Given the description of an element on the screen output the (x, y) to click on. 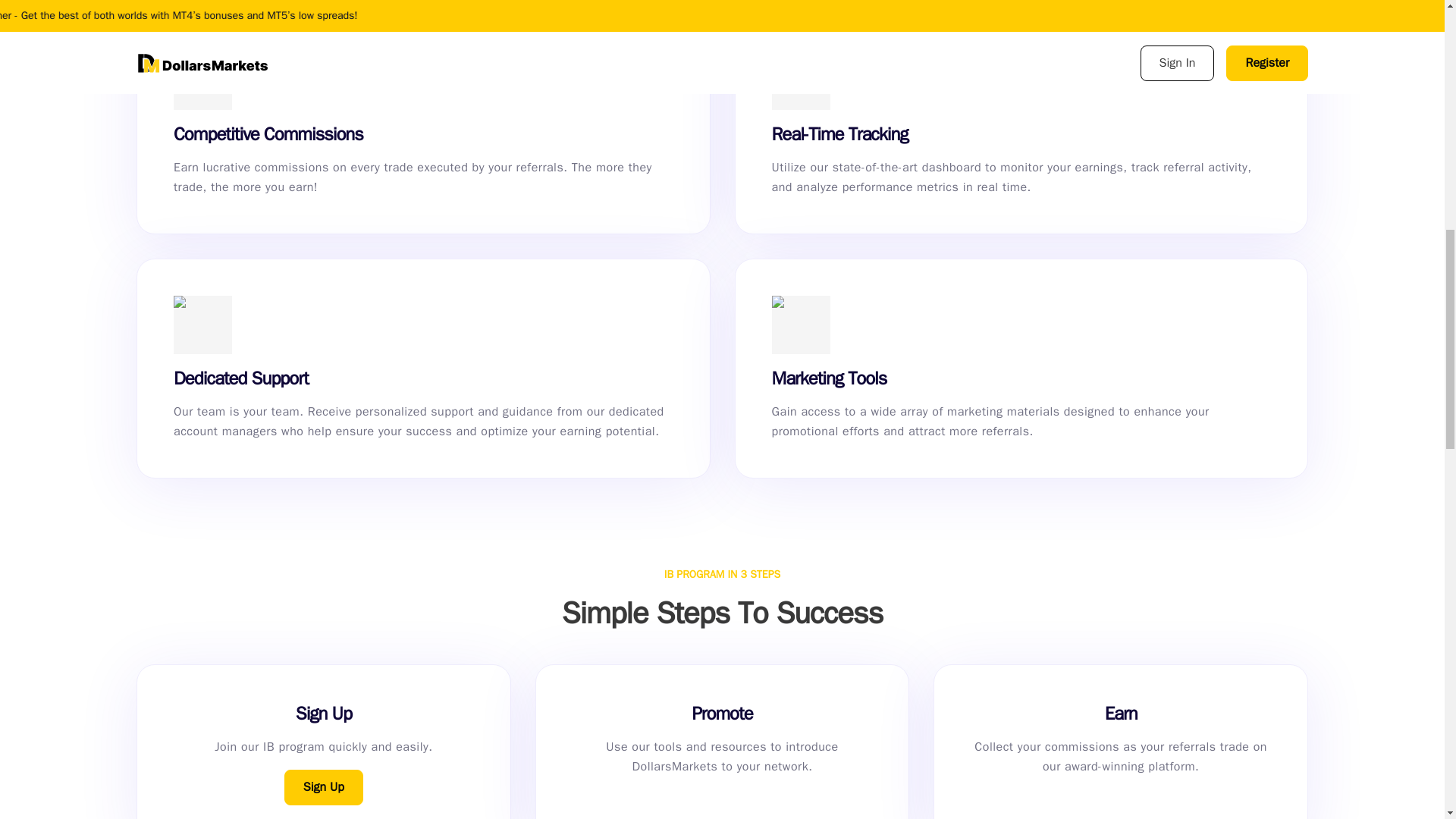
Sign Up (322, 787)
